Given the description of an element on the screen output the (x, y) to click on. 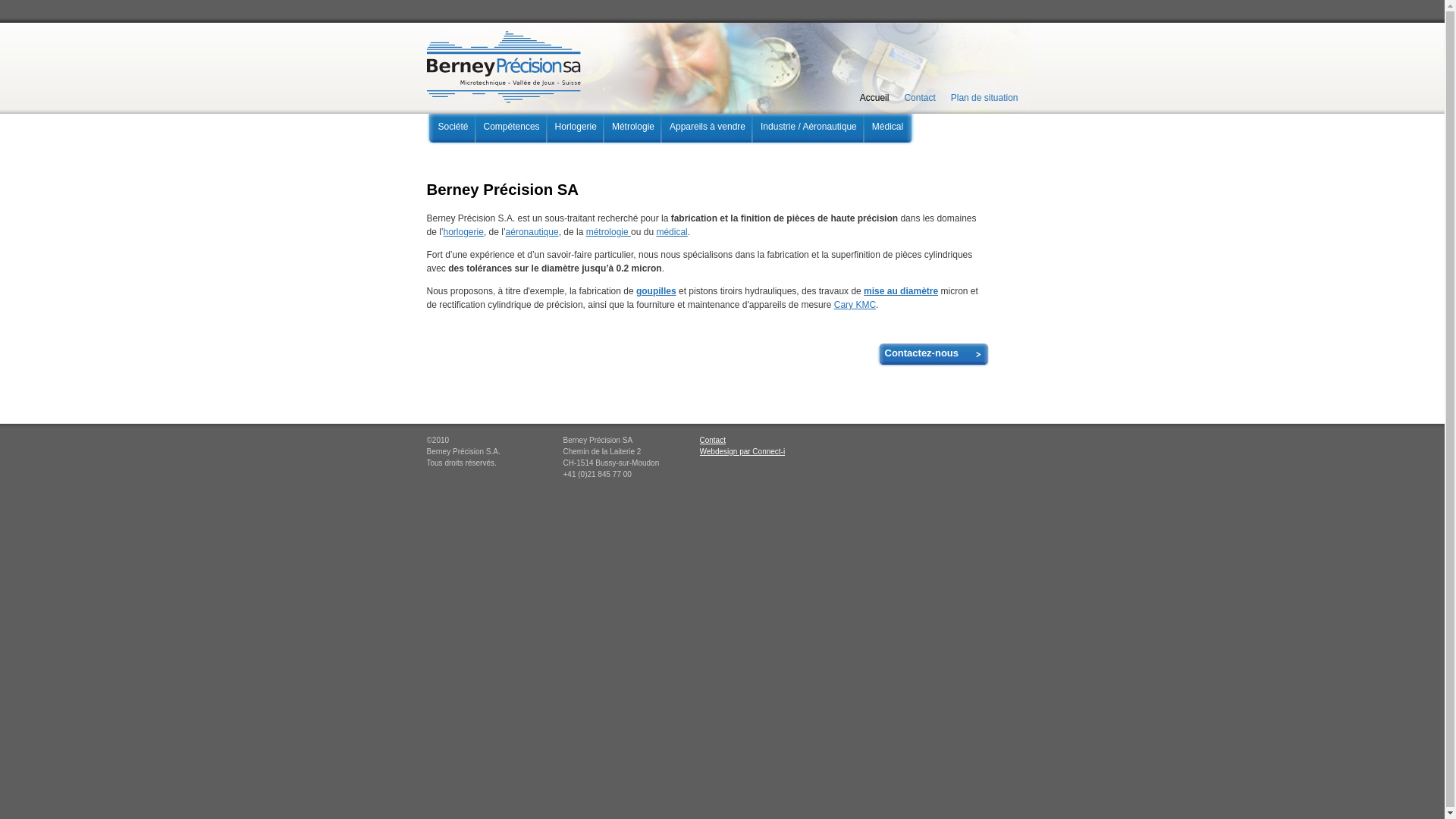
Horlogerie Element type: text (575, 128)
goupilles Element type: text (656, 290)
Contact Element type: text (711, 440)
Accueil Element type: text (874, 97)
Contact Element type: text (919, 97)
Cary KMC Element type: text (854, 304)
Contactez-nous Element type: text (932, 355)
Plan de situation Element type: text (984, 97)
horlogerie Element type: text (463, 231)
Webdesign par Connect-i Element type: text (741, 451)
